Given the description of an element on the screen output the (x, y) to click on. 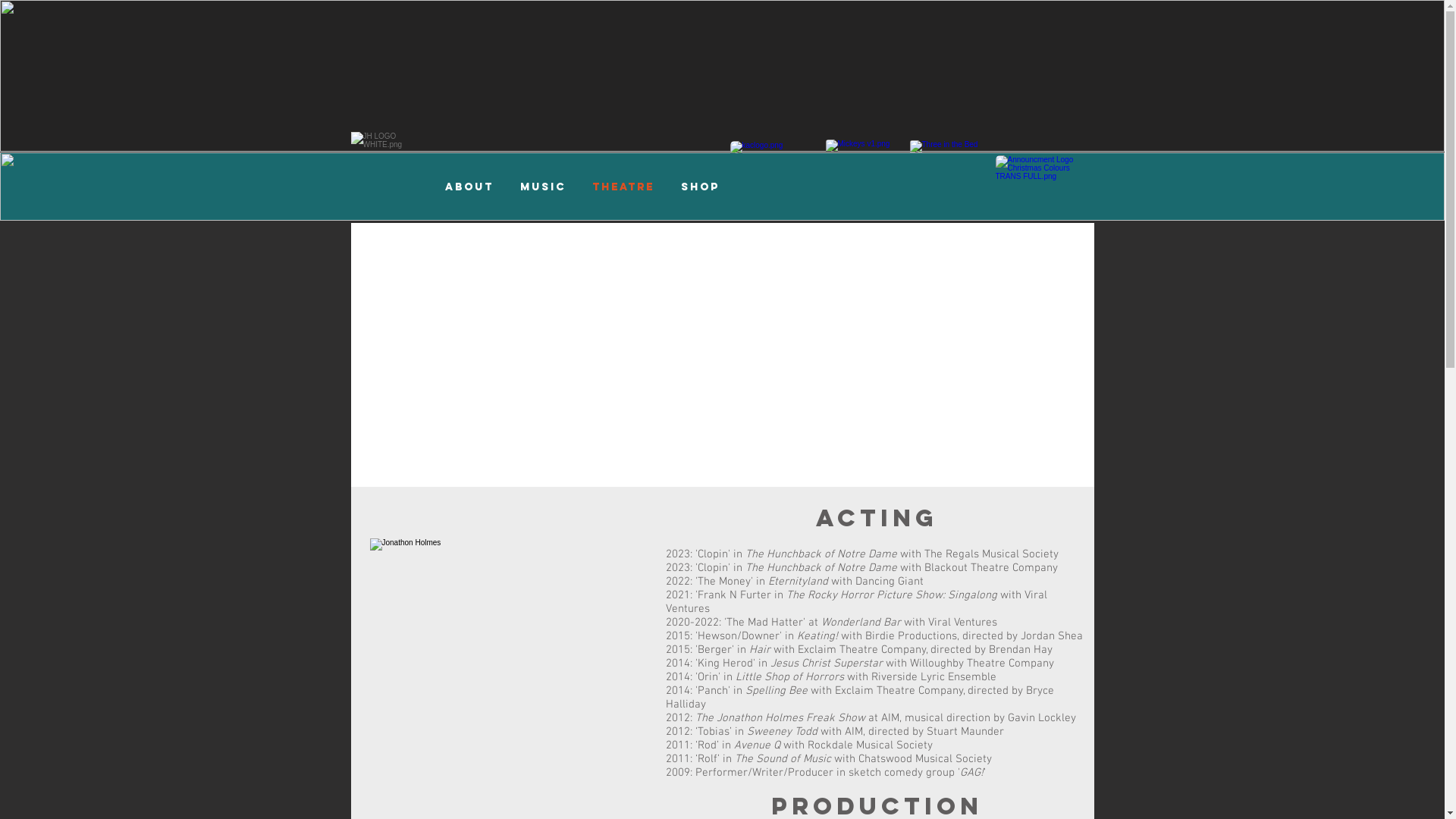
ABOUT Element type: text (469, 186)
THEATRE Element type: text (623, 186)
SHOP Element type: text (699, 186)
MUSIC Element type: text (542, 186)
